Given the description of an element on the screen output the (x, y) to click on. 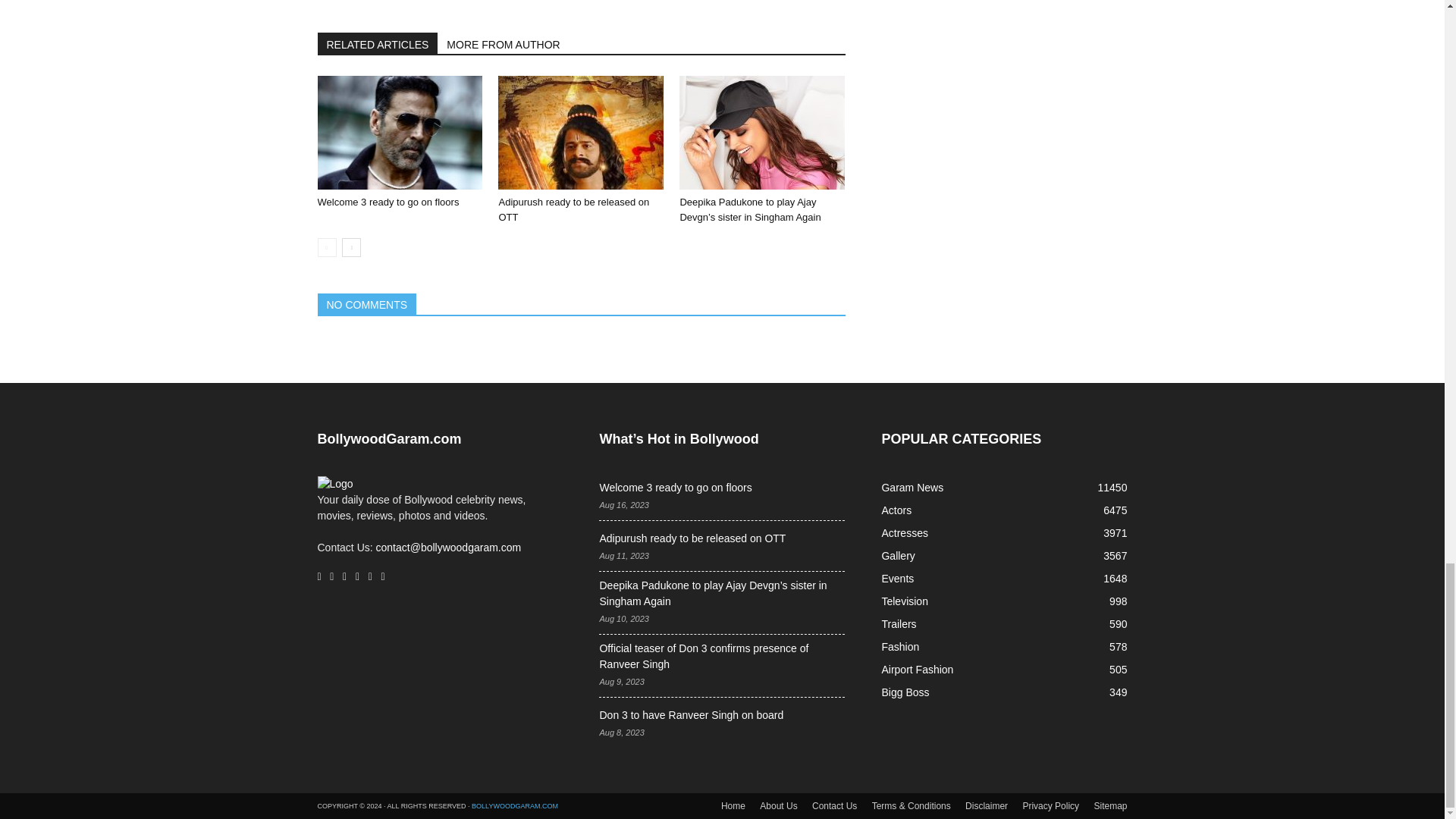
Welcome 3 ready to go on floors (399, 132)
Adipurush ready to be released on OTT (573, 209)
Welcome 3 ready to go on floors (387, 202)
Adipurush ready to be released on OTT (580, 132)
